Given the description of an element on the screen output the (x, y) to click on. 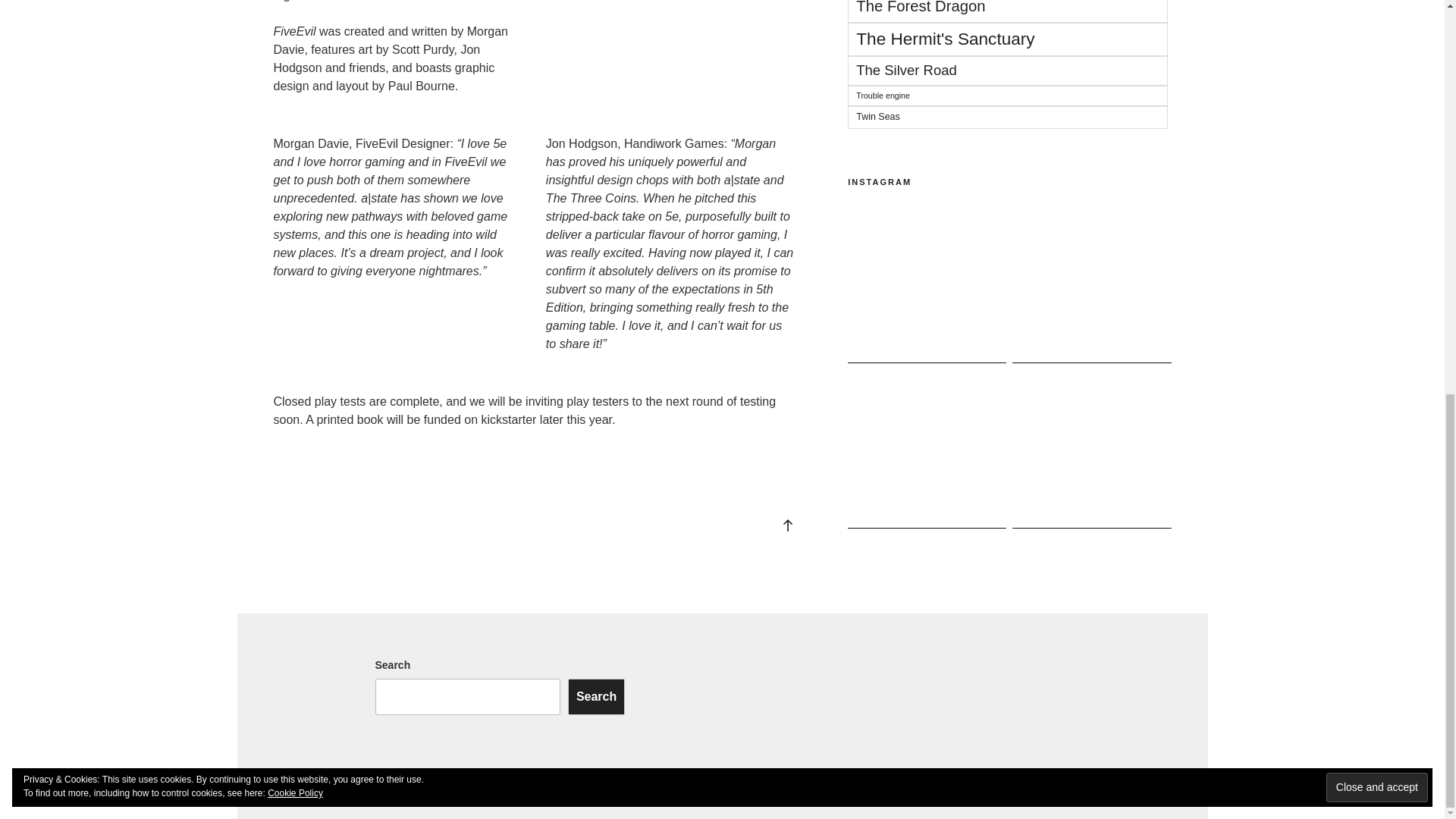
Close and accept (1377, 27)
